Given the description of an element on the screen output the (x, y) to click on. 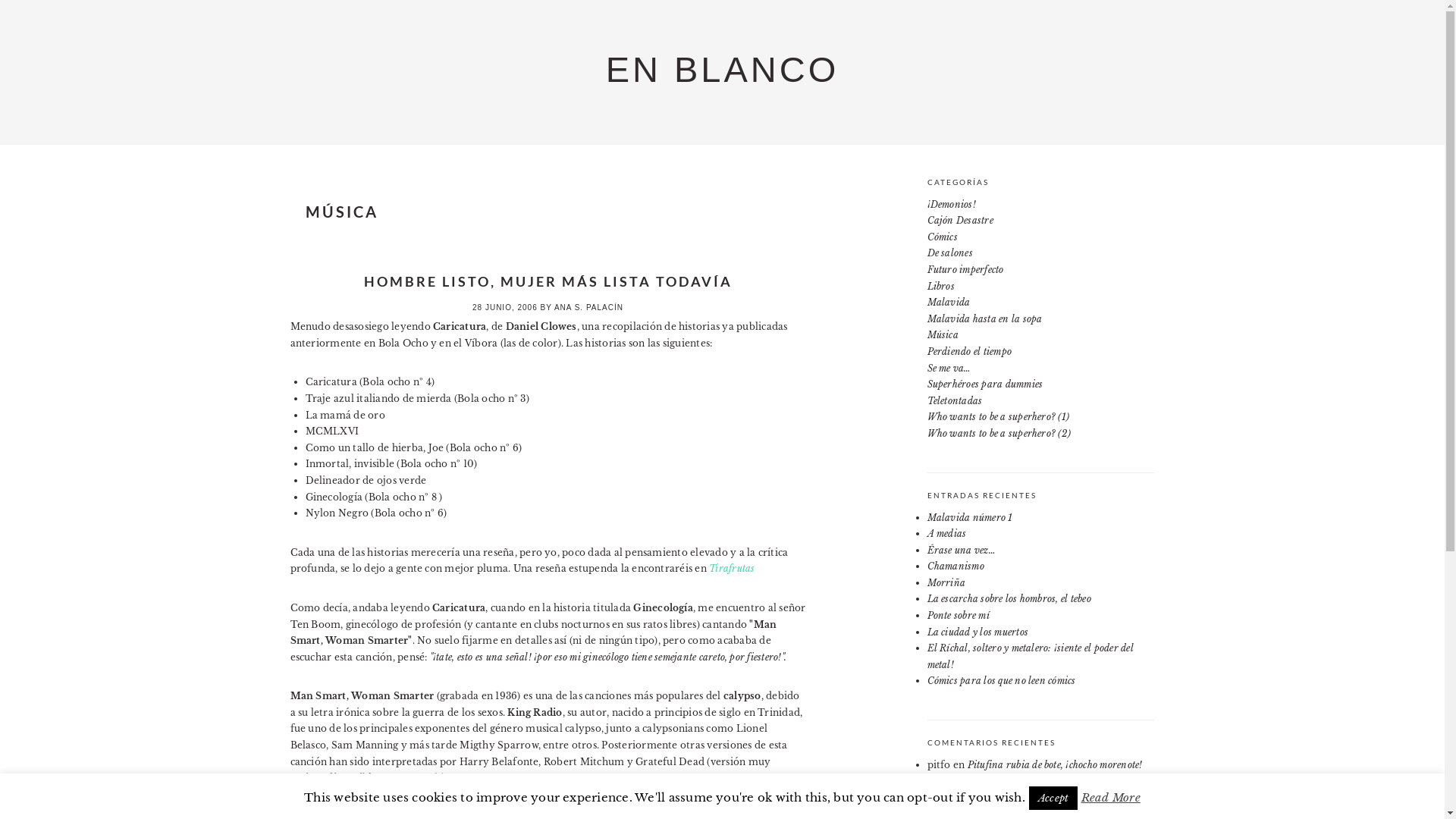
www.archive.org Element type: text (432, 777)
Malavida hasta en la sopa Element type: text (983, 318)
EN BLANCO Element type: text (722, 69)
A medias Element type: text (946, 533)
Accept Element type: text (1053, 797)
Malavida Element type: text (947, 301)
Ir al contenido principal Element type: text (0, 0)
Teletontadas Element type: text (954, 400)
Libros Element type: text (939, 285)
Chamanismo Element type: text (954, 565)
La escarcha sobre los hombros, el tebeo Element type: text (1008, 598)
Little Nemo's Kat Element type: text (963, 781)
Who wants to be a superhero? (1) Element type: text (997, 416)
Who wants to be a superhero? (2) Element type: text (998, 433)
Perdiendo el tiempo Element type: text (968, 351)
De salones Element type: text (949, 252)
La ciudad y los muertos Element type: text (977, 631)
Futuro imperfecto Element type: text (964, 269)
Read More Element type: text (1110, 797)
Tirafrutas Element type: text (731, 568)
